Given the description of an element on the screen output the (x, y) to click on. 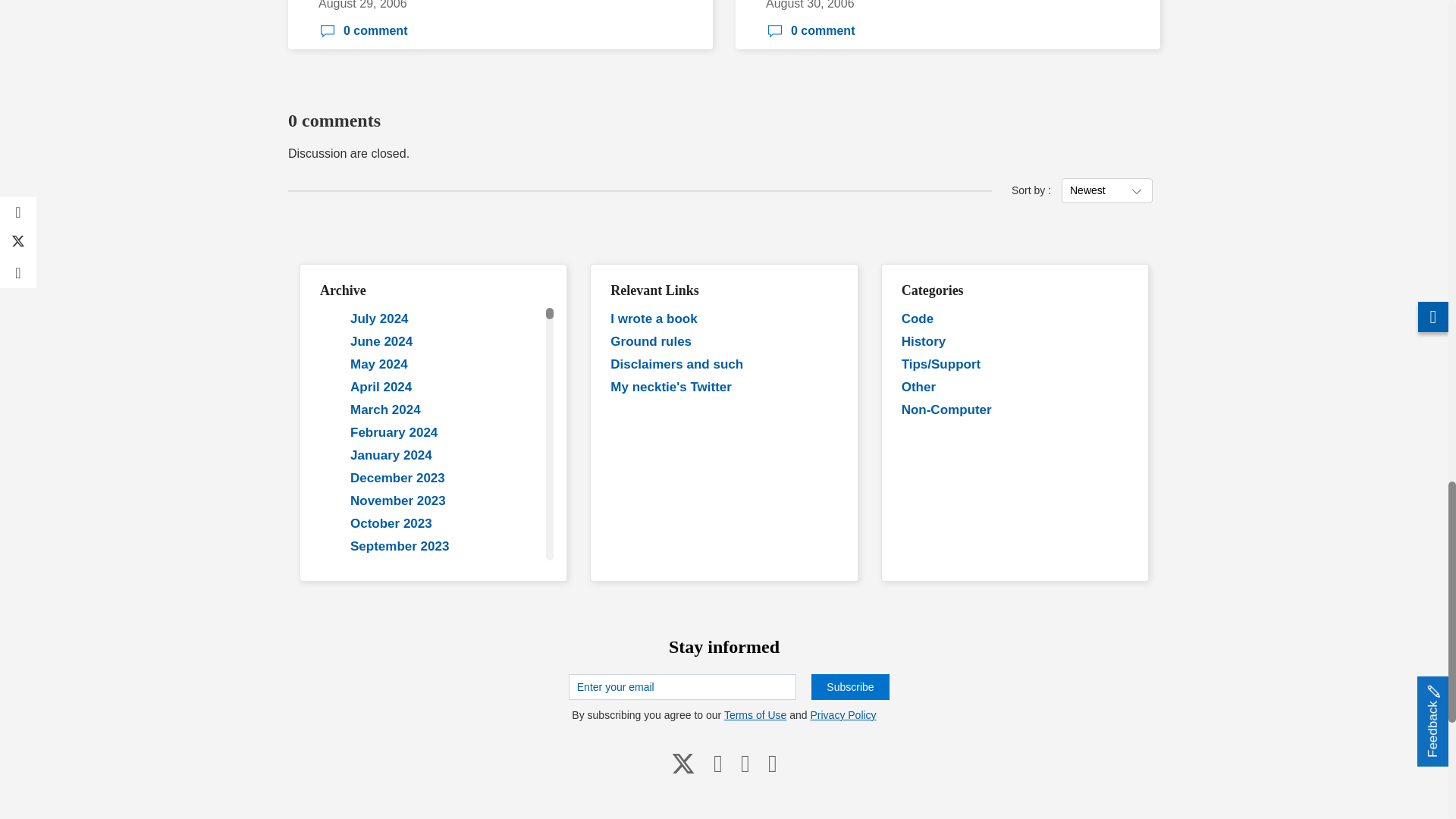
GitHub (745, 762)
twitter (683, 762)
RSS Feed (772, 762)
youtube (718, 762)
Subscribe (849, 687)
